Given the description of an element on the screen output the (x, y) to click on. 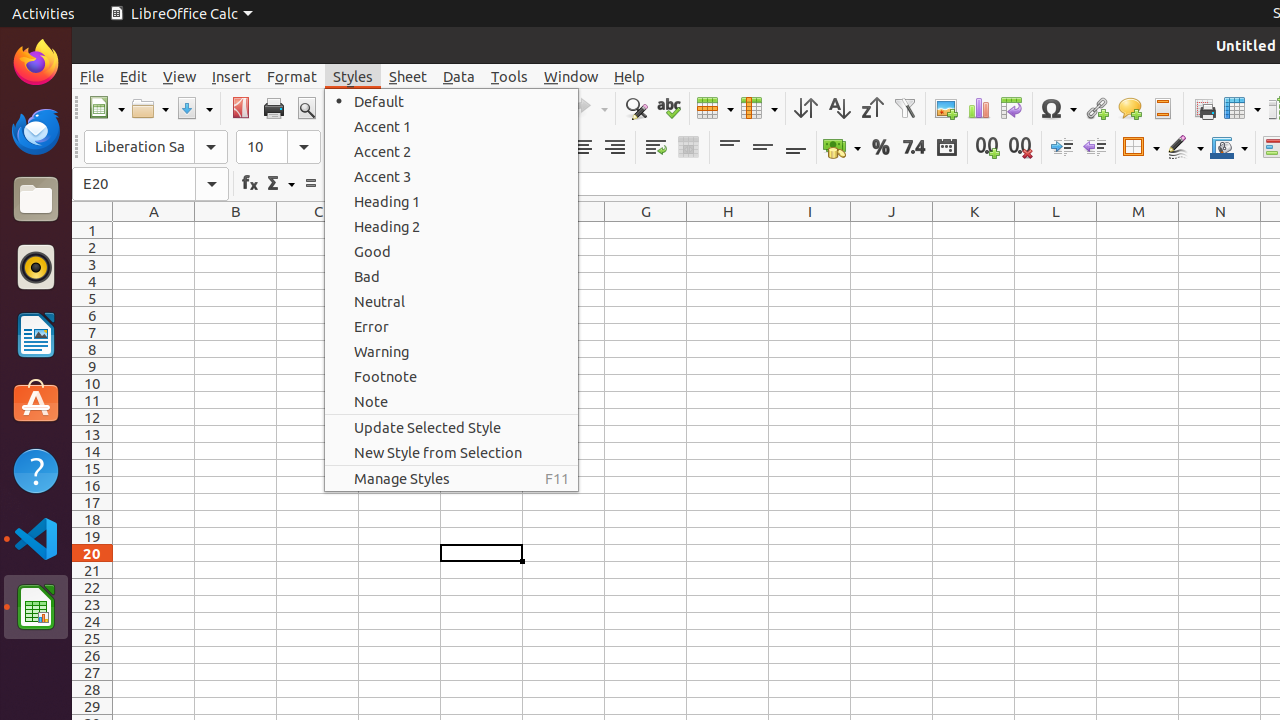
Borders (Shift to overwrite) Element type: push-button (1141, 147)
LibreOffice Writer Element type: push-button (36, 334)
L1 Element type: table-cell (1056, 230)
Insert Element type: menu (231, 76)
Ubuntu Software Element type: push-button (36, 402)
